Given the description of an element on the screen output the (x, y) to click on. 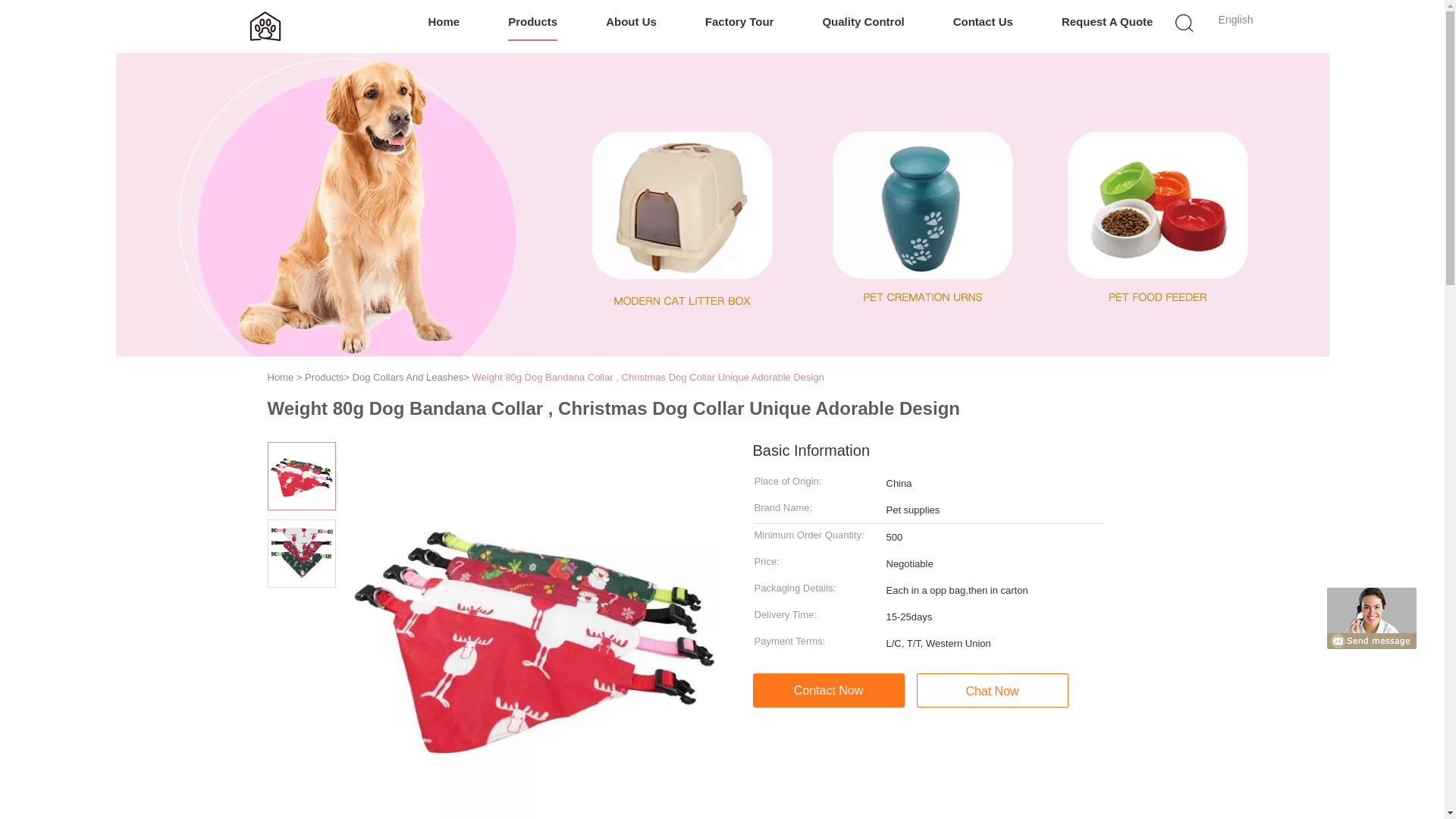
Contact Us (983, 22)
Products (323, 377)
Home (280, 377)
China Pet Bed manufacturer (264, 25)
Dog Collars And Leashes (408, 377)
English (1235, 19)
Search (1044, 132)
Request A Quote (1107, 22)
Products (532, 22)
Factory Tour (739, 22)
Quality Control (863, 22)
About Us (630, 22)
